Given the description of an element on the screen output the (x, y) to click on. 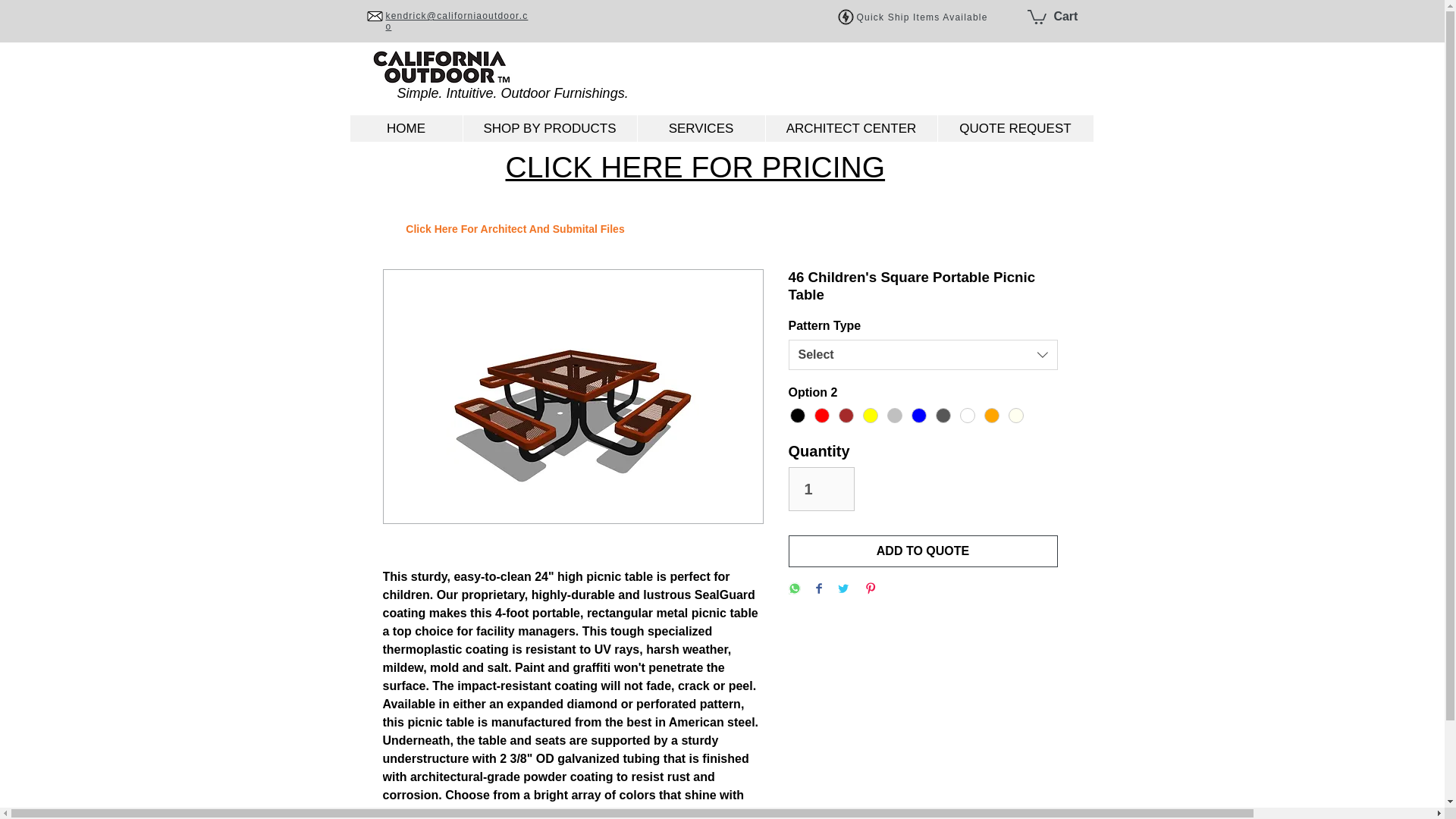
HOME (406, 128)
CLICK HERE FOR PRICING (695, 166)
ADD TO QUOTE (923, 551)
SERVICES (701, 128)
QUOTE REQUEST (1015, 128)
SHOP BY PRODUCTS (550, 128)
Select (923, 354)
Click Here For Architect And Submital Files (514, 229)
ARCHITECT CENTER (850, 128)
1 (821, 488)
